Given the description of an element on the screen output the (x, y) to click on. 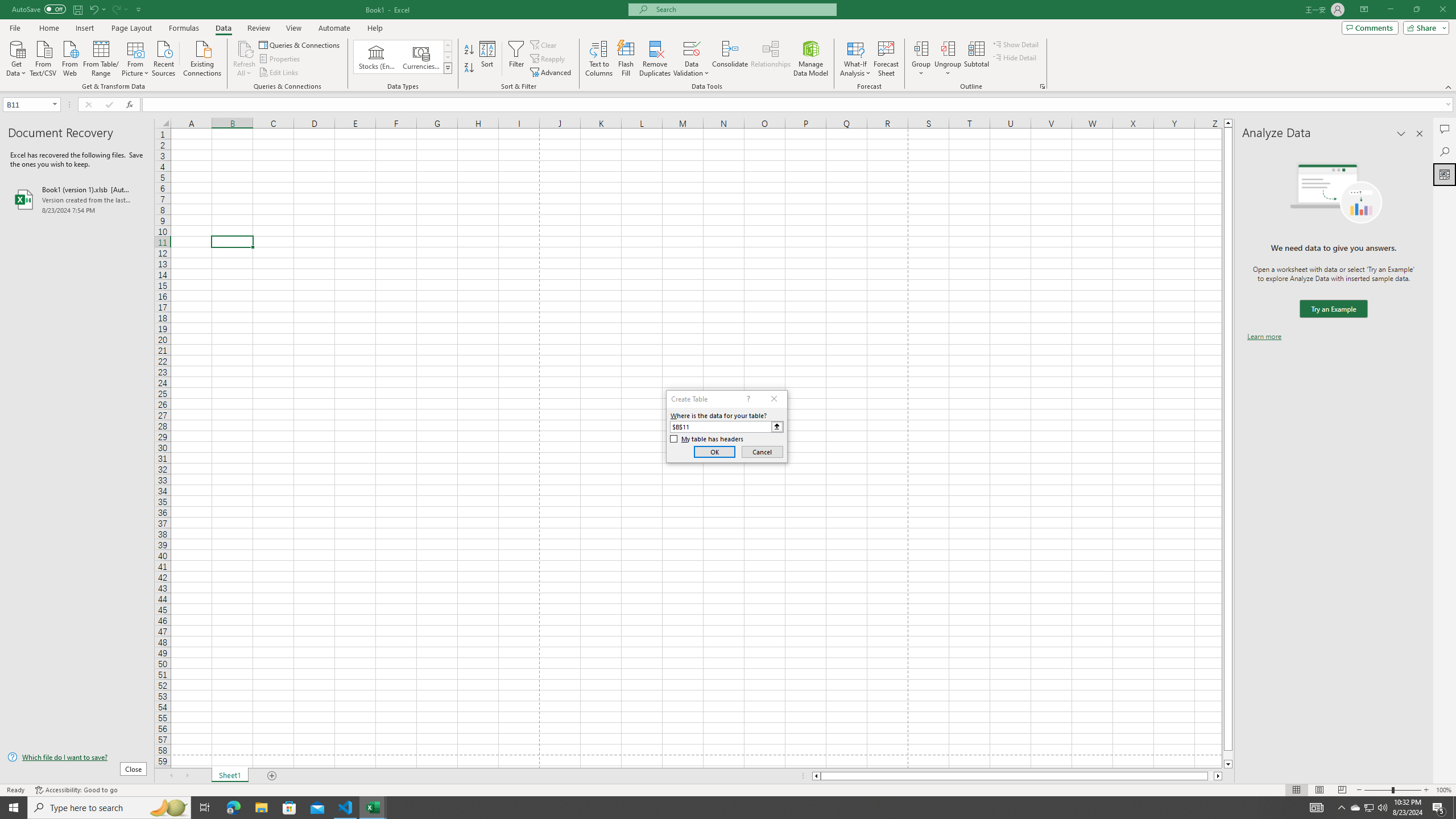
Advanced... (551, 72)
From Text/CSV (43, 57)
Currencies (English) (420, 56)
Get Data (16, 57)
Remove Duplicates (654, 58)
Show Detail (1016, 44)
Consolidate... (729, 58)
Group and Outline Settings (1042, 85)
Restore Down (1416, 9)
